Given the description of an element on the screen output the (x, y) to click on. 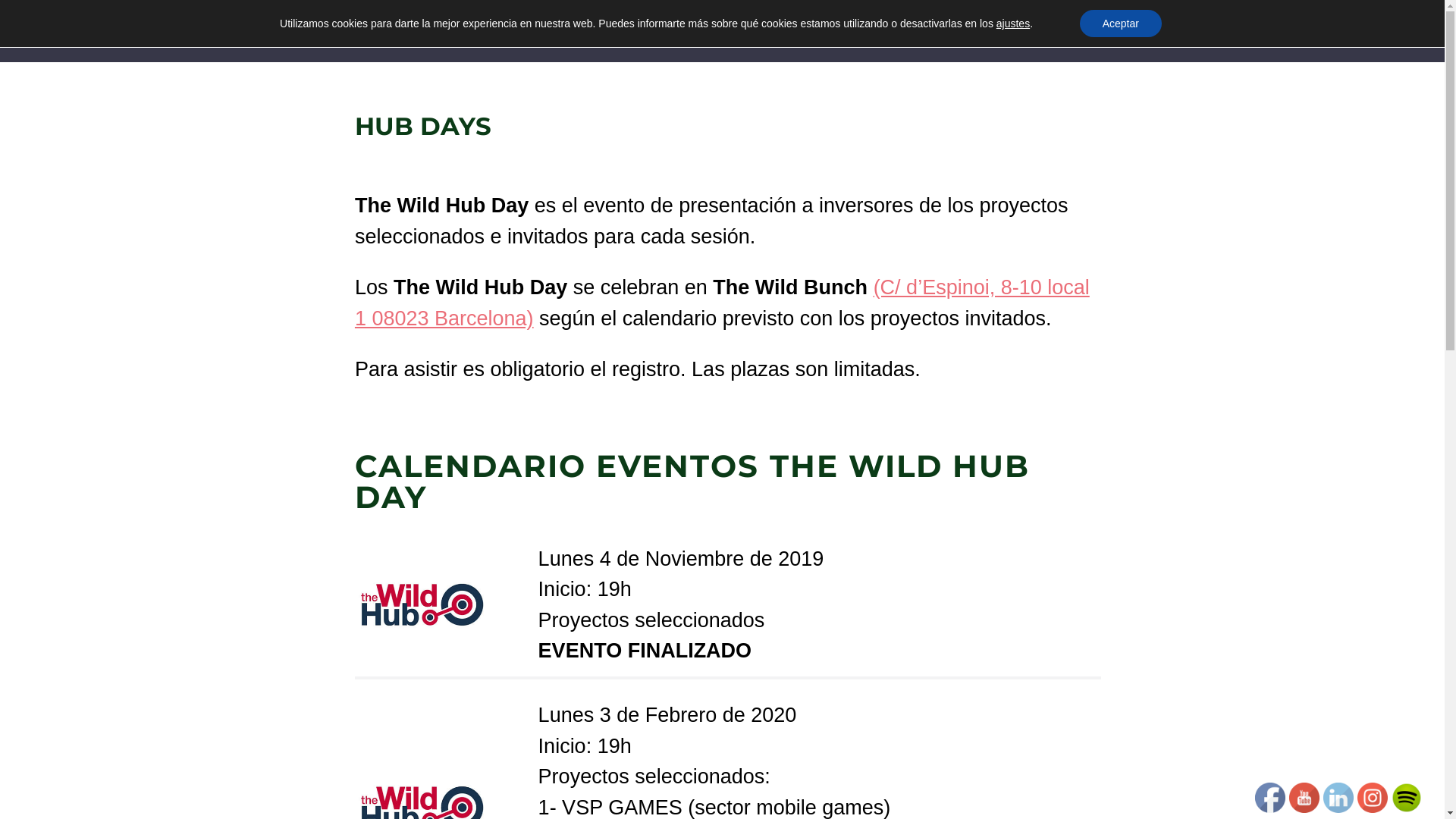
SOCIALICON Element type: hover (1406, 797)
The Wild Bunch Club Element type: text (1120, 30)
Contacto Element type: text (1364, 30)
YOUTUBE Element type: hover (1304, 797)
THE WILD BUNCH Element type: text (75, 21)
Aceptar Element type: text (1120, 23)
LINKEDIN Element type: hover (1338, 797)
The Wild Hub Element type: text (1265, 30)
Skip to content Element type: text (0, 0)
Facebook Element type: hover (1270, 797)
Instagram Element type: hover (1372, 797)
